Given the description of an element on the screen output the (x, y) to click on. 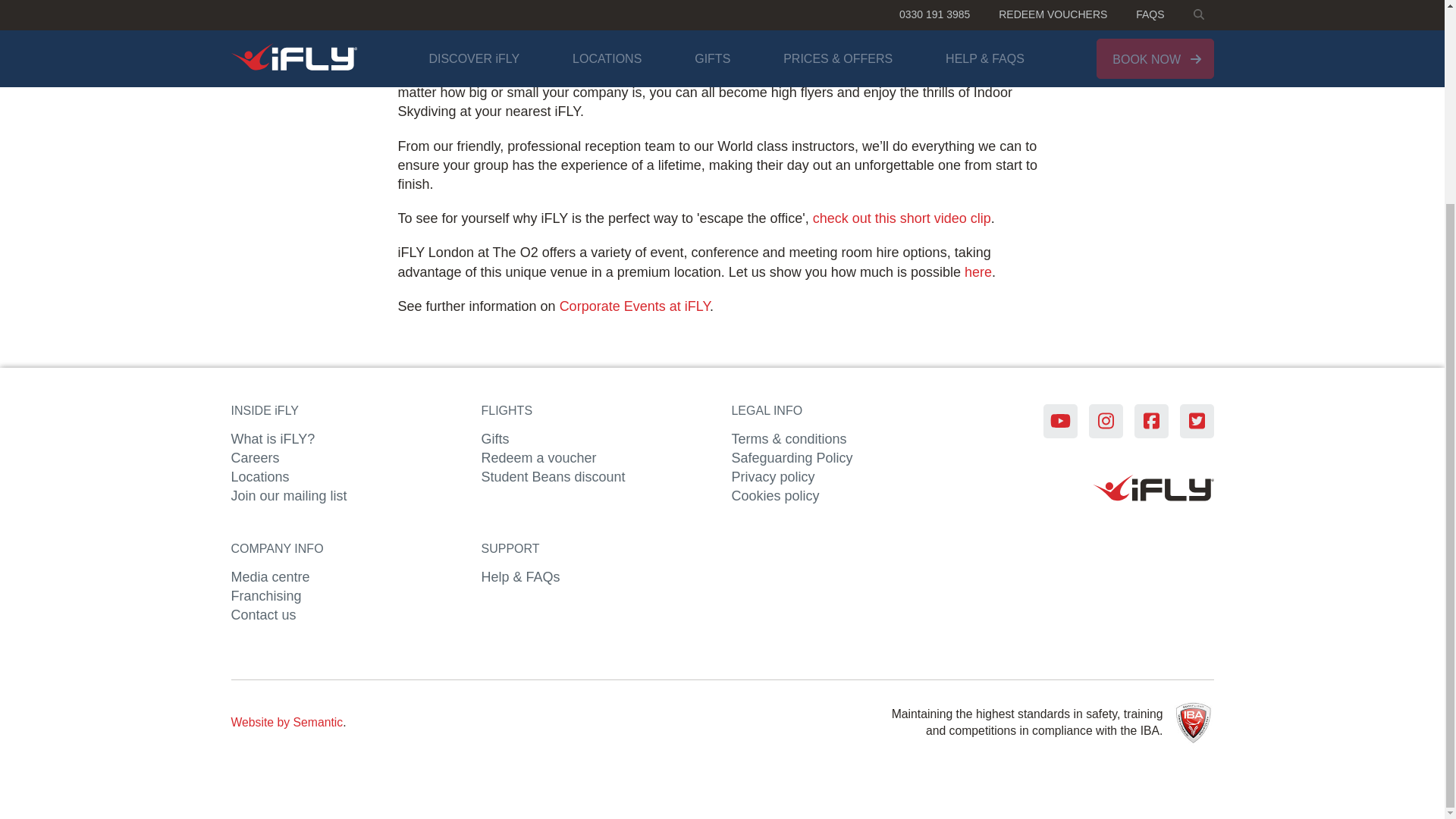
iFLY (1152, 490)
Corporate Events (634, 305)
